Given the description of an element on the screen output the (x, y) to click on. 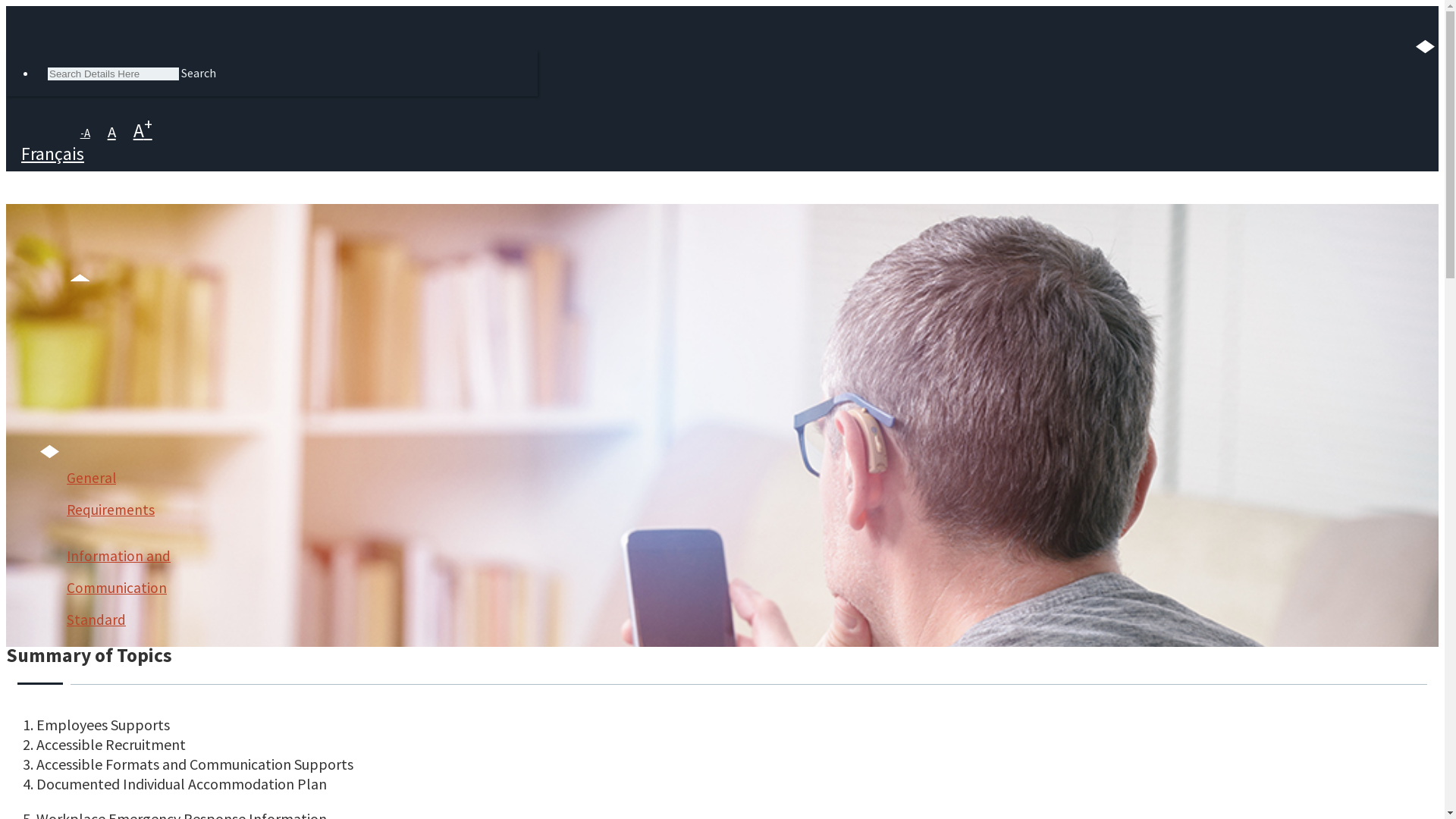
A+ Element type: text (142, 130)
Open Search Panel Element type: hover (13, 20)
Toggle navigation Element type: text (302, 235)
A Element type: text (111, 131)
Home
  Element type: text (61, 371)
Design of Public Spaces Standard Element type: text (127, 760)
Information and Communication Standard Element type: text (127, 588)
Training Modules
  Element type: text (90, 438)
Take the Module Online! Element type: text (104, 583)
Employment Standard Element type: text (127, 682)
General Requirements Element type: text (127, 494)
-A Element type: text (84, 132)
